Given the description of an element on the screen output the (x, y) to click on. 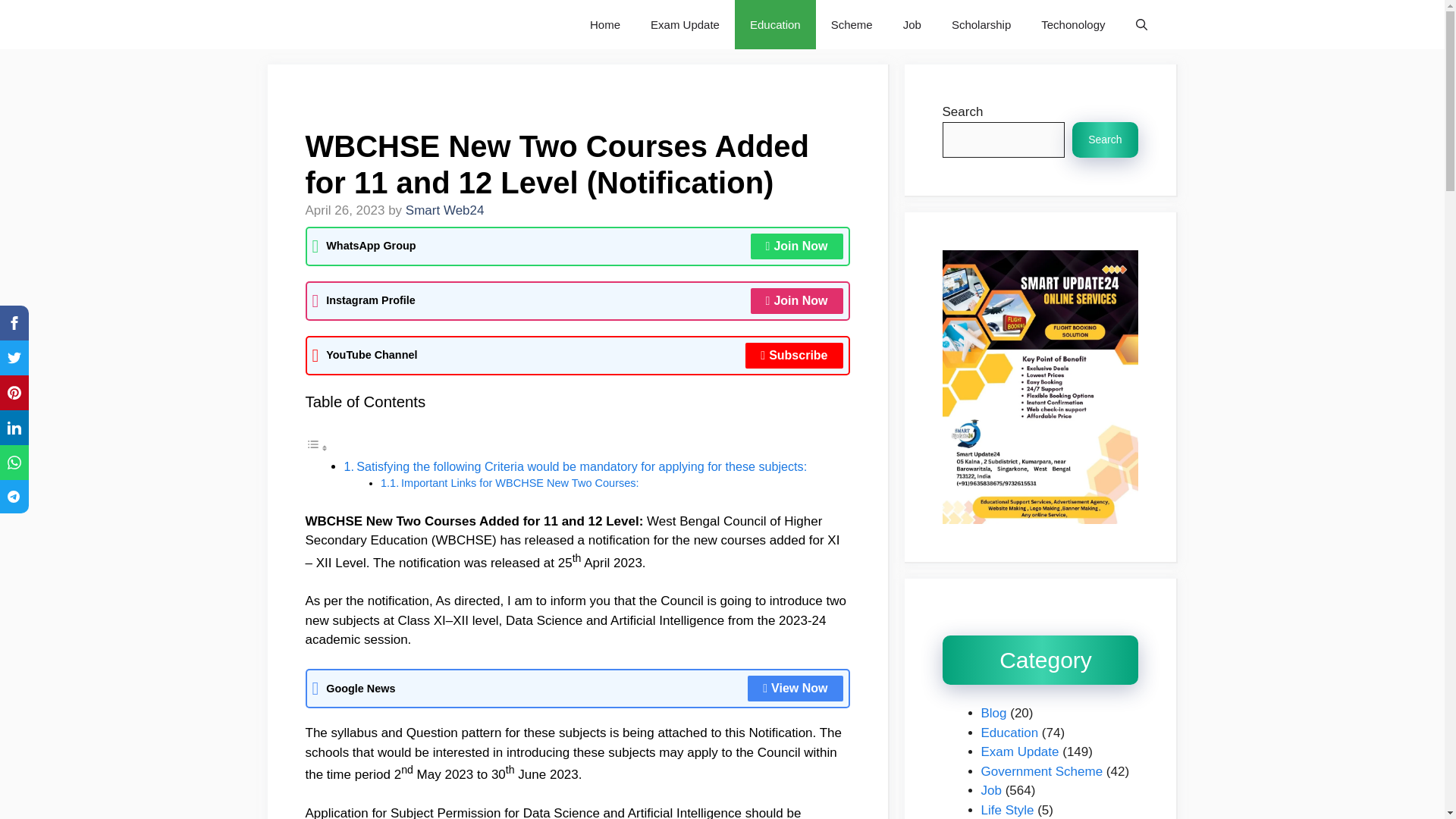
Techonology (1072, 24)
Job (912, 24)
Important Links for WBCHSE New Two Courses: (520, 482)
Scholarship (981, 24)
Scheme (851, 24)
Join Now (797, 246)
View Now (795, 688)
Education (775, 24)
Subscribe (794, 355)
